Given the description of an element on the screen output the (x, y) to click on. 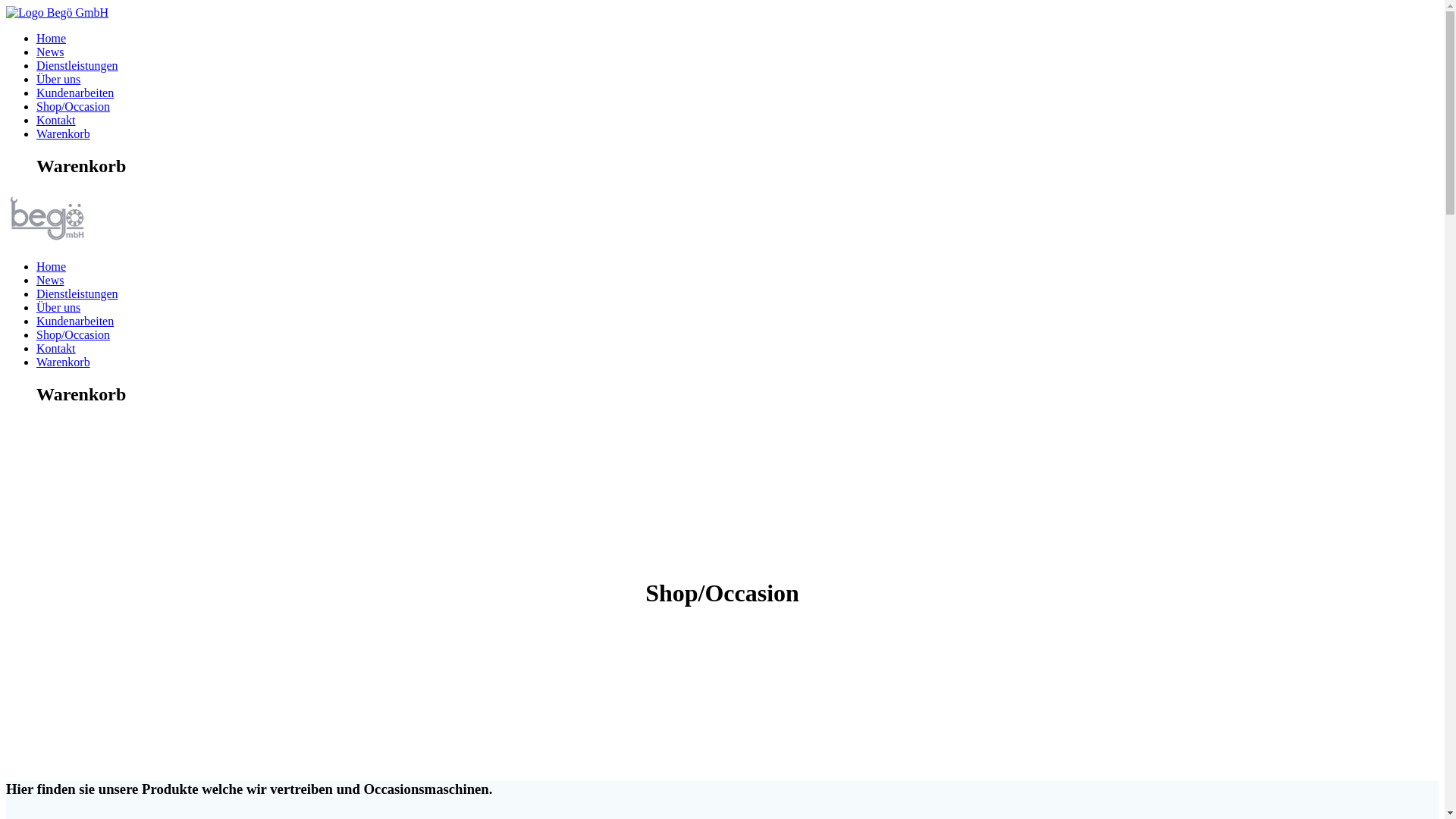
Skip to content Element type: text (5, 5)
News Element type: text (49, 51)
Kontakt Element type: text (55, 119)
Dienstleistungen Element type: text (77, 293)
News Element type: text (49, 279)
Kontakt Element type: text (55, 348)
Kundenarbeiten Element type: text (74, 320)
Warenkorb Element type: text (63, 361)
Home Element type: text (50, 266)
Home Element type: text (50, 37)
Warenkorb Element type: text (63, 133)
Dienstleistungen Element type: text (77, 65)
Shop/Occasion Element type: text (72, 106)
Shop/Occasion Element type: text (72, 334)
Kundenarbeiten Element type: text (74, 92)
